Given the description of an element on the screen output the (x, y) to click on. 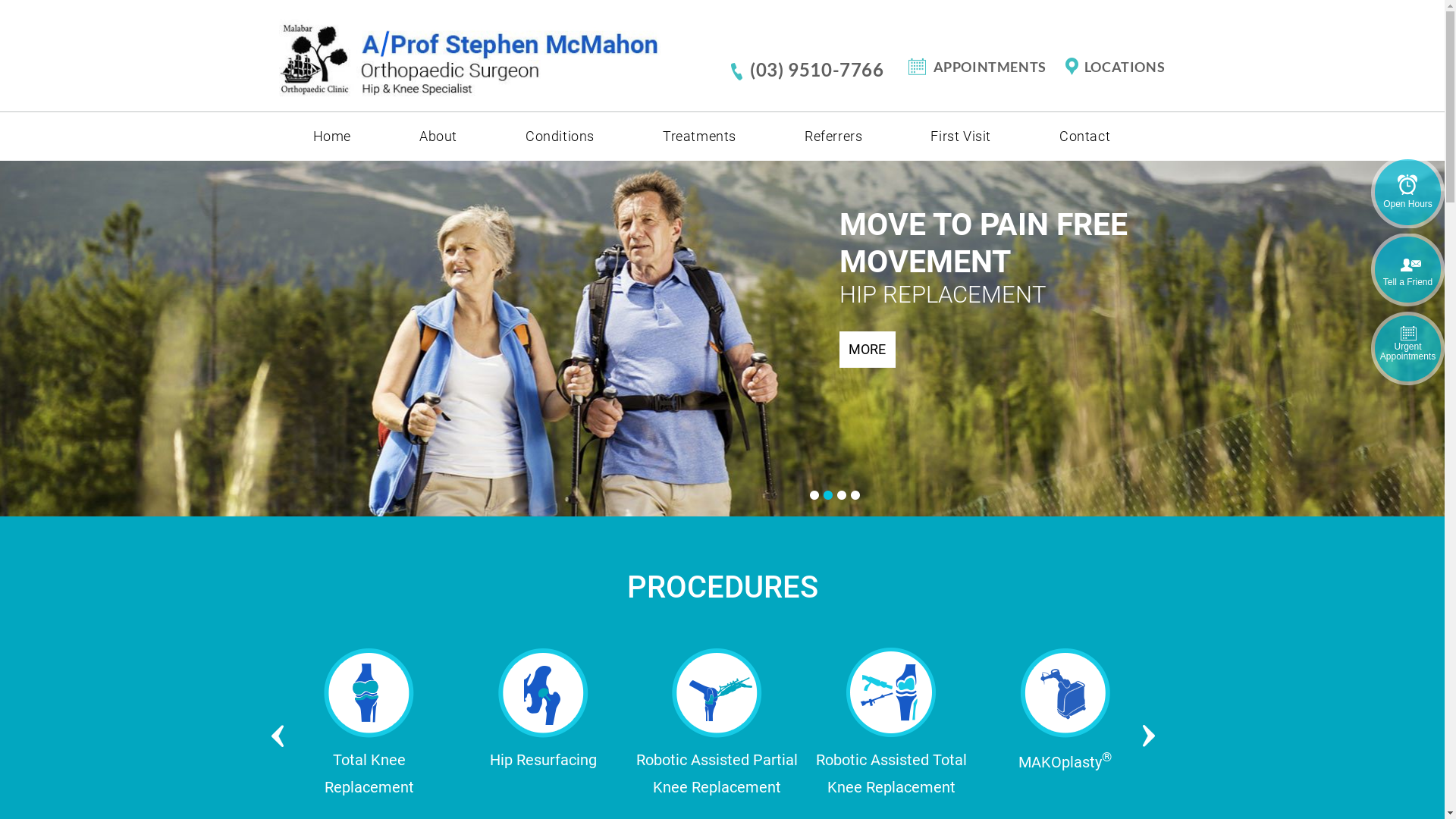
Open Hours Element type: text (1407, 192)
Referrers Element type: text (833, 136)
Treatments Element type: text (699, 136)
Conditions Element type: text (559, 136)
(03) 9510-7766 Element type: text (818, 70)
First Visit Element type: text (960, 136)
Contact Element type: text (1084, 136)
Urgent Appointments Element type: text (1407, 348)
Tell a Friend Element type: text (1407, 270)
MORE Element type: text (866, 311)
About Element type: text (438, 136)
APPOINTMENTS Element type: text (983, 66)
LOCATIONS Element type: text (1112, 66)
Home Element type: text (332, 136)
